Given the description of an element on the screen output the (x, y) to click on. 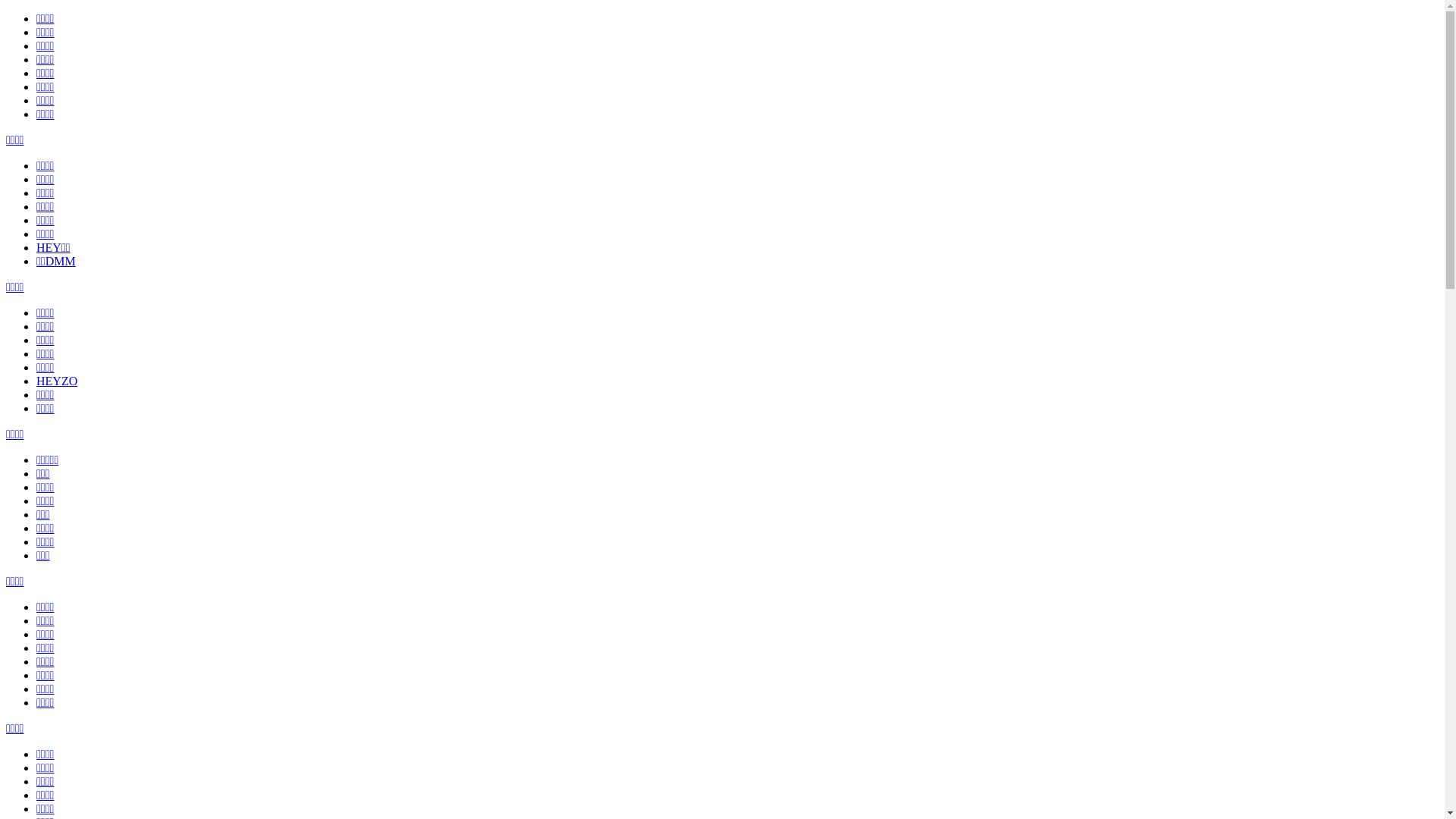
HEYZO Element type: text (56, 380)
